Given the description of an element on the screen output the (x, y) to click on. 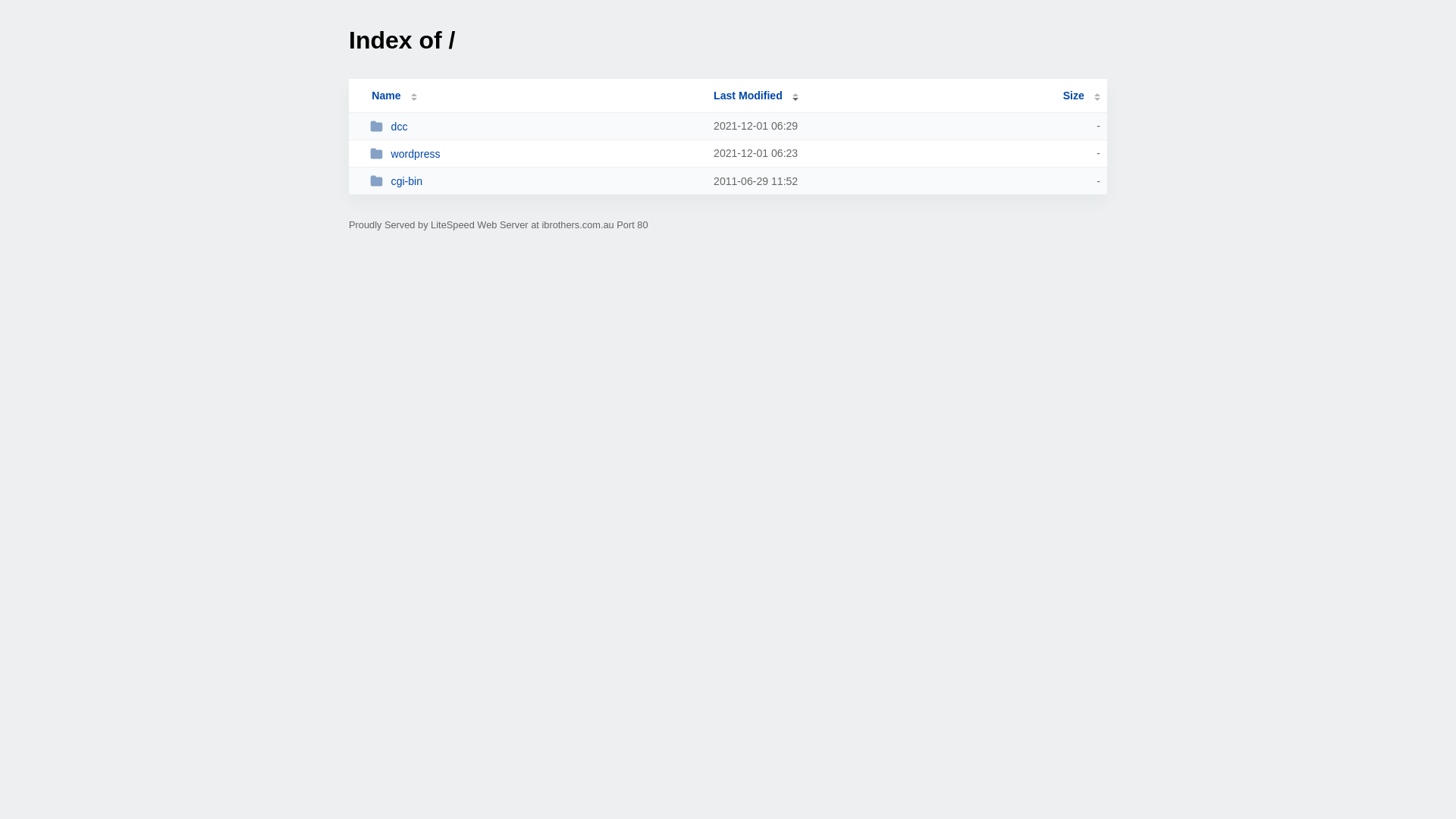
Name Element type: text (385, 95)
cgi-bin Element type: text (534, 180)
Size Element type: text (1081, 95)
wordpress Element type: text (534, 153)
dcc Element type: text (534, 125)
Last Modified Element type: text (755, 95)
